Given the description of an element on the screen output the (x, y) to click on. 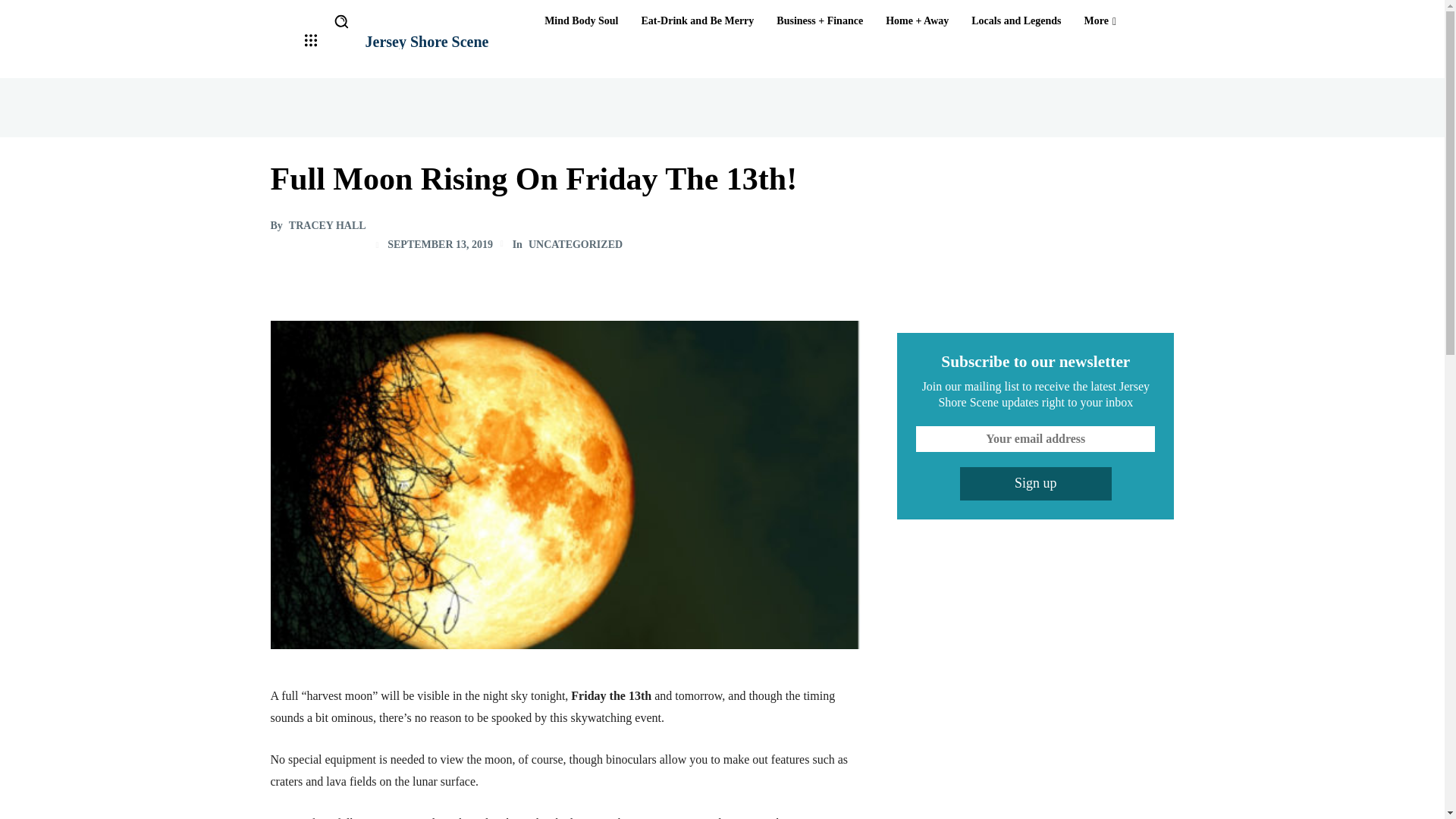
Locals and Legends (1015, 20)
Mind Body Soul (581, 20)
Eat-Drink and Be Merry (697, 20)
Sign up (1035, 483)
More (1100, 20)
Jersey Shore Scene (427, 41)
